Given the description of an element on the screen output the (x, y) to click on. 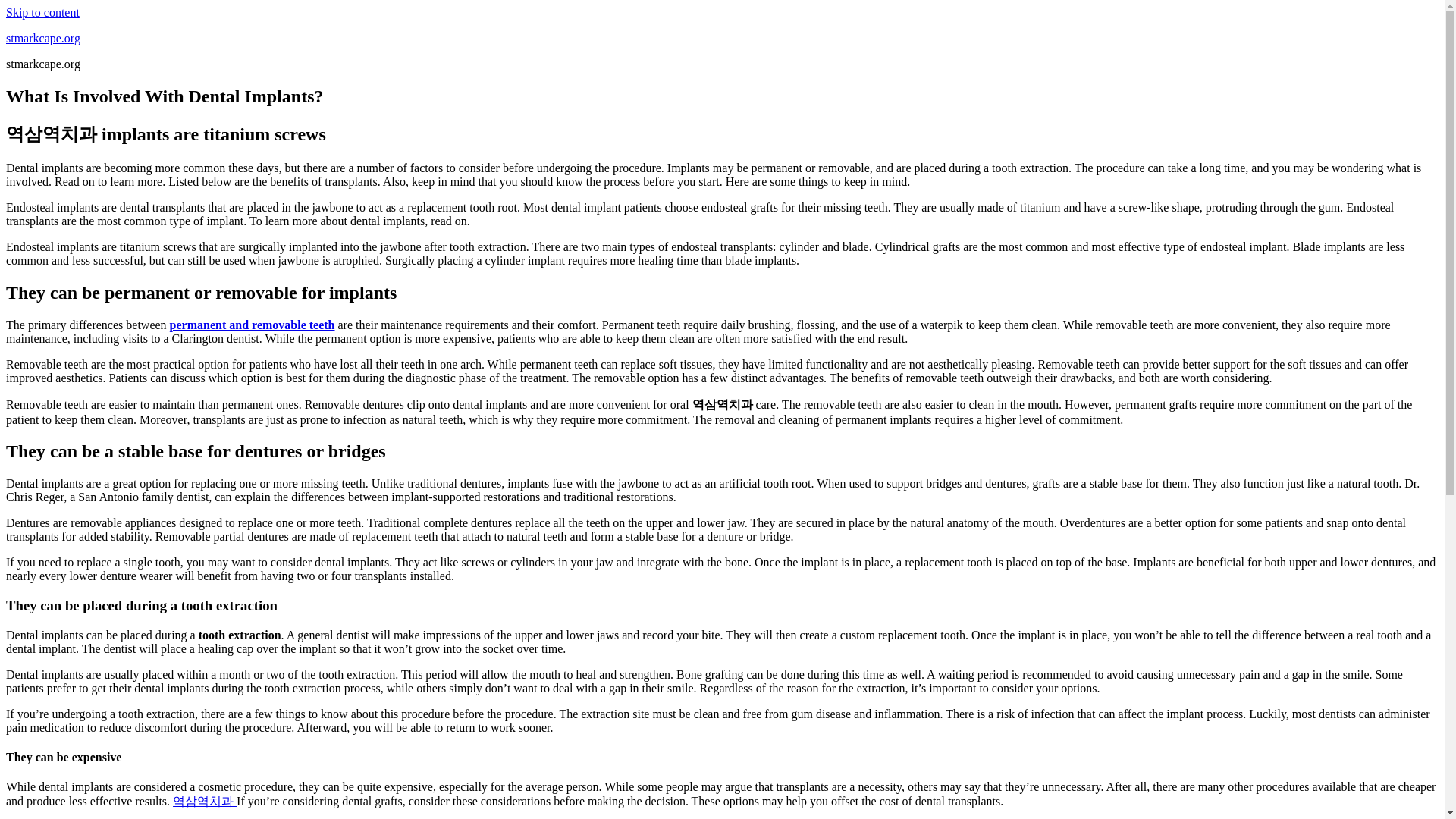
permanent and removable teeth (252, 324)
stmarkcape.org (42, 38)
Skip to content (42, 11)
